Given the description of an element on the screen output the (x, y) to click on. 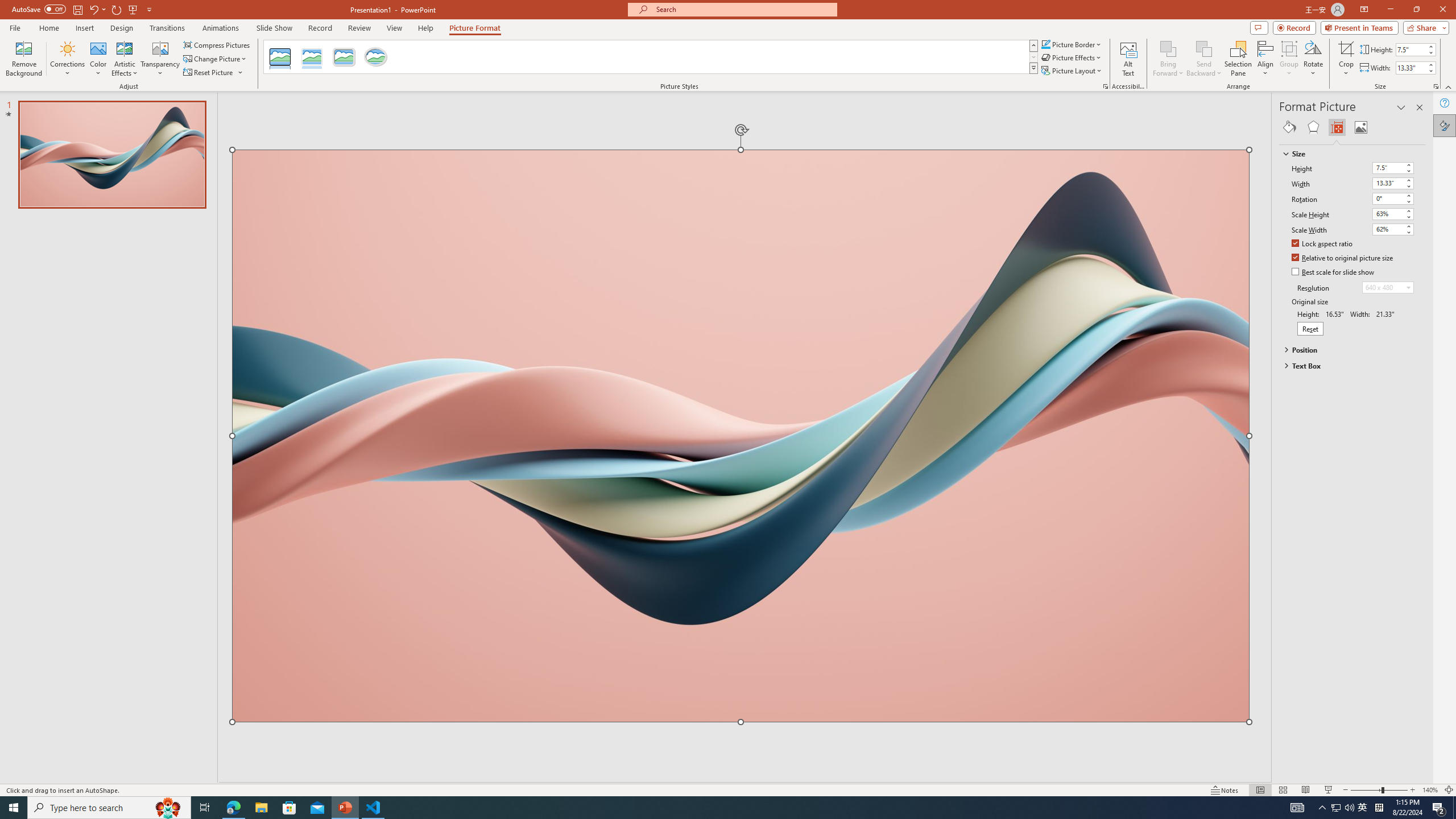
Width (1393, 183)
Rotation (1388, 198)
Width (1388, 182)
Reset Picture (208, 72)
Class: NetUIScrollBar (1420, 460)
Corrections (67, 58)
